Given the description of an element on the screen output the (x, y) to click on. 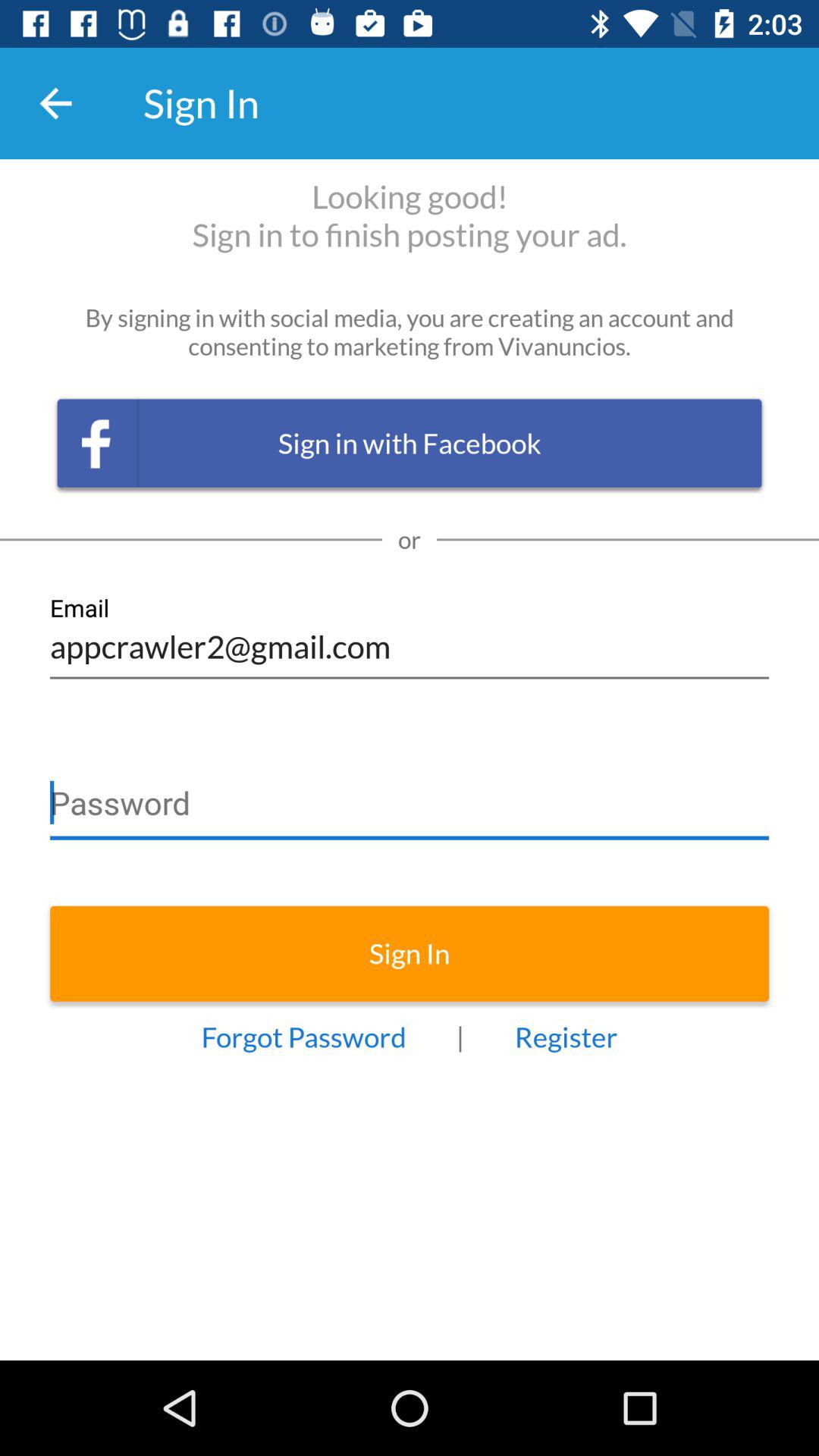
select the item below the sign in (303, 1036)
